Given the description of an element on the screen output the (x, y) to click on. 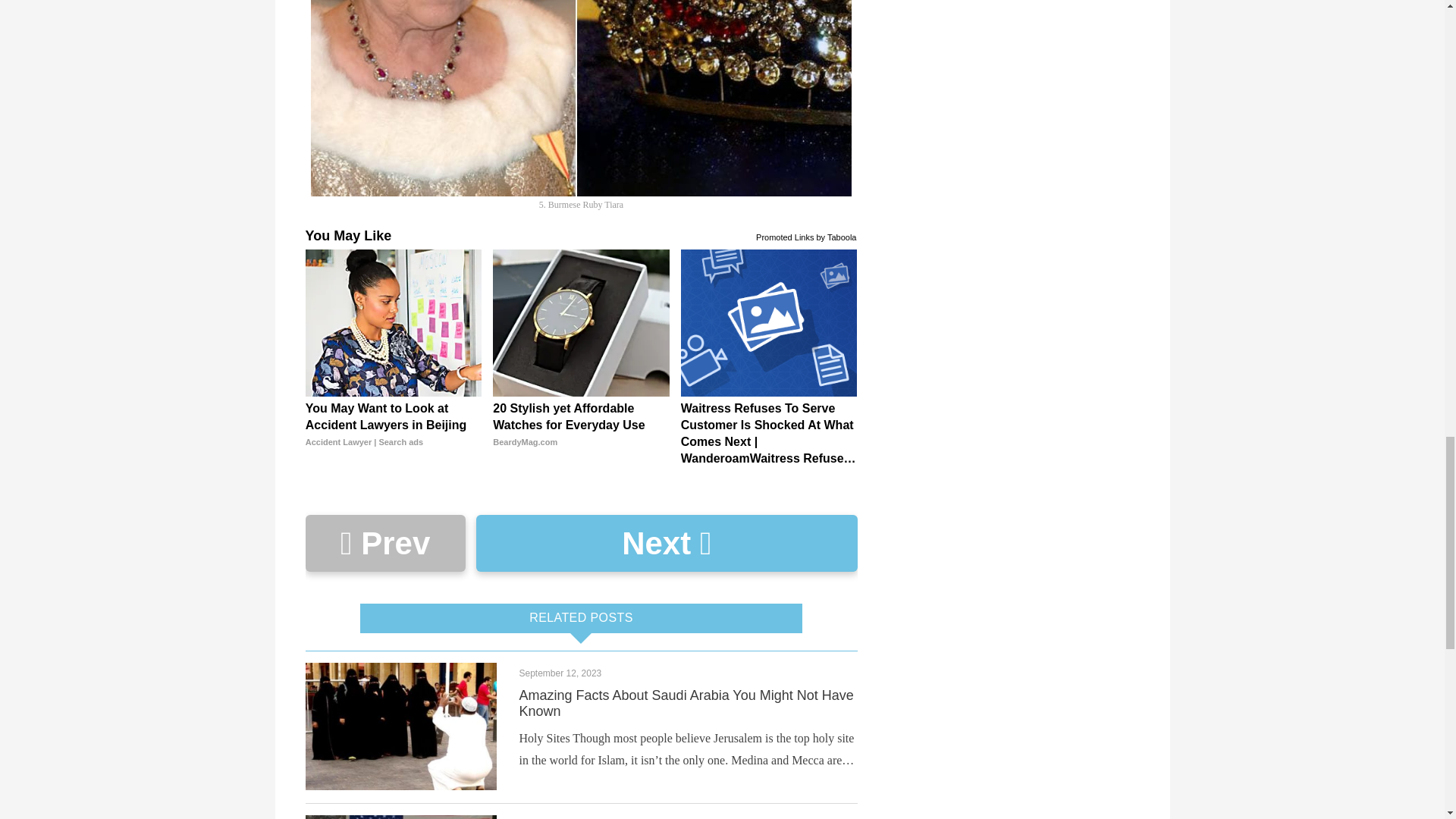
Next (666, 543)
Amazing Facts About Saudi Arabia You Might Not Have Known (685, 703)
Promoted Links (784, 235)
You May Want to Look at Accident Lawyers in Beijing (393, 425)
by Taboola (835, 235)
20 Stylish yet Affordable Watches for Everyday Use (581, 425)
Prev (384, 543)
